Given the description of an element on the screen output the (x, y) to click on. 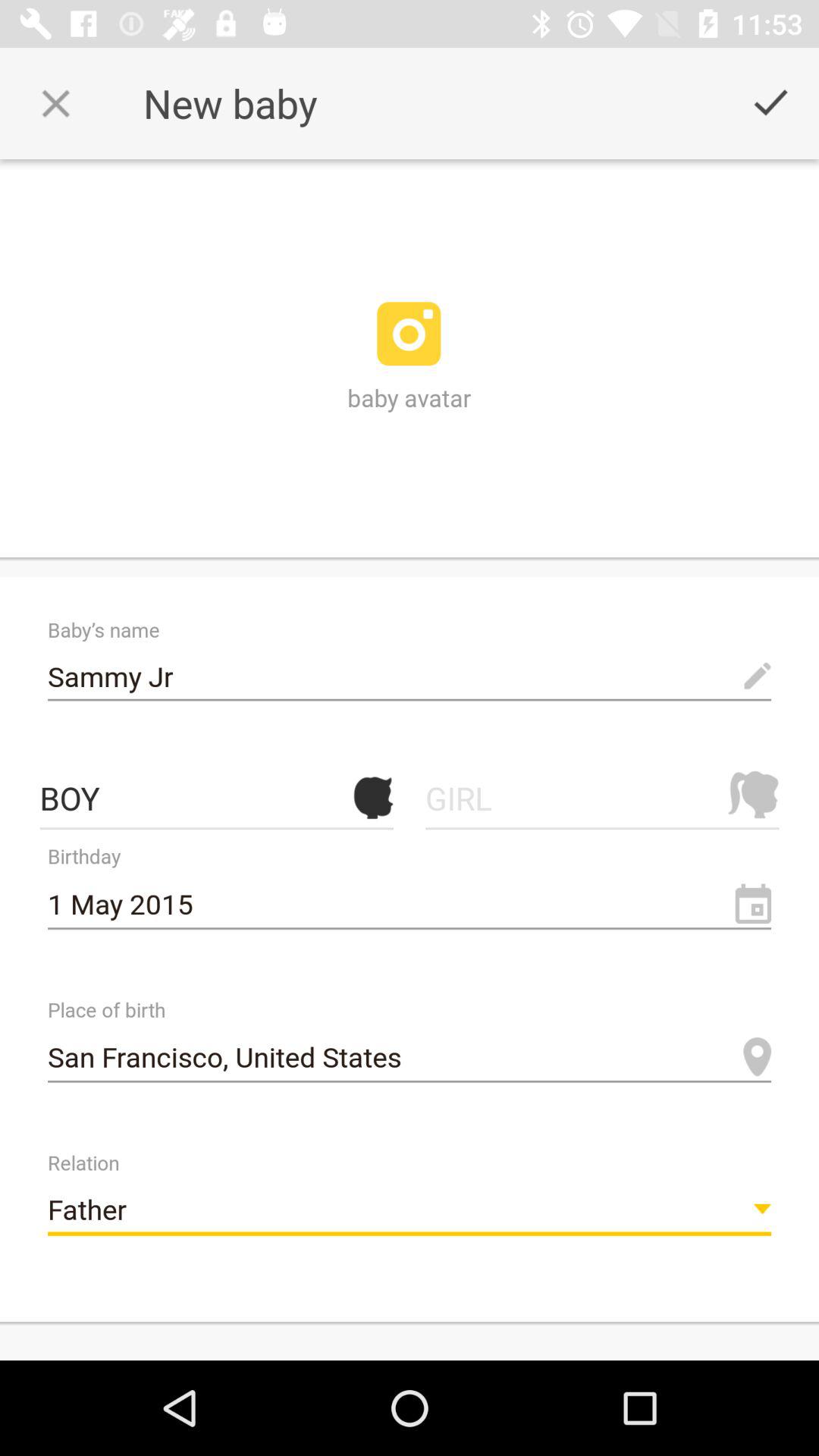
close this tap (55, 103)
